Given the description of an element on the screen output the (x, y) to click on. 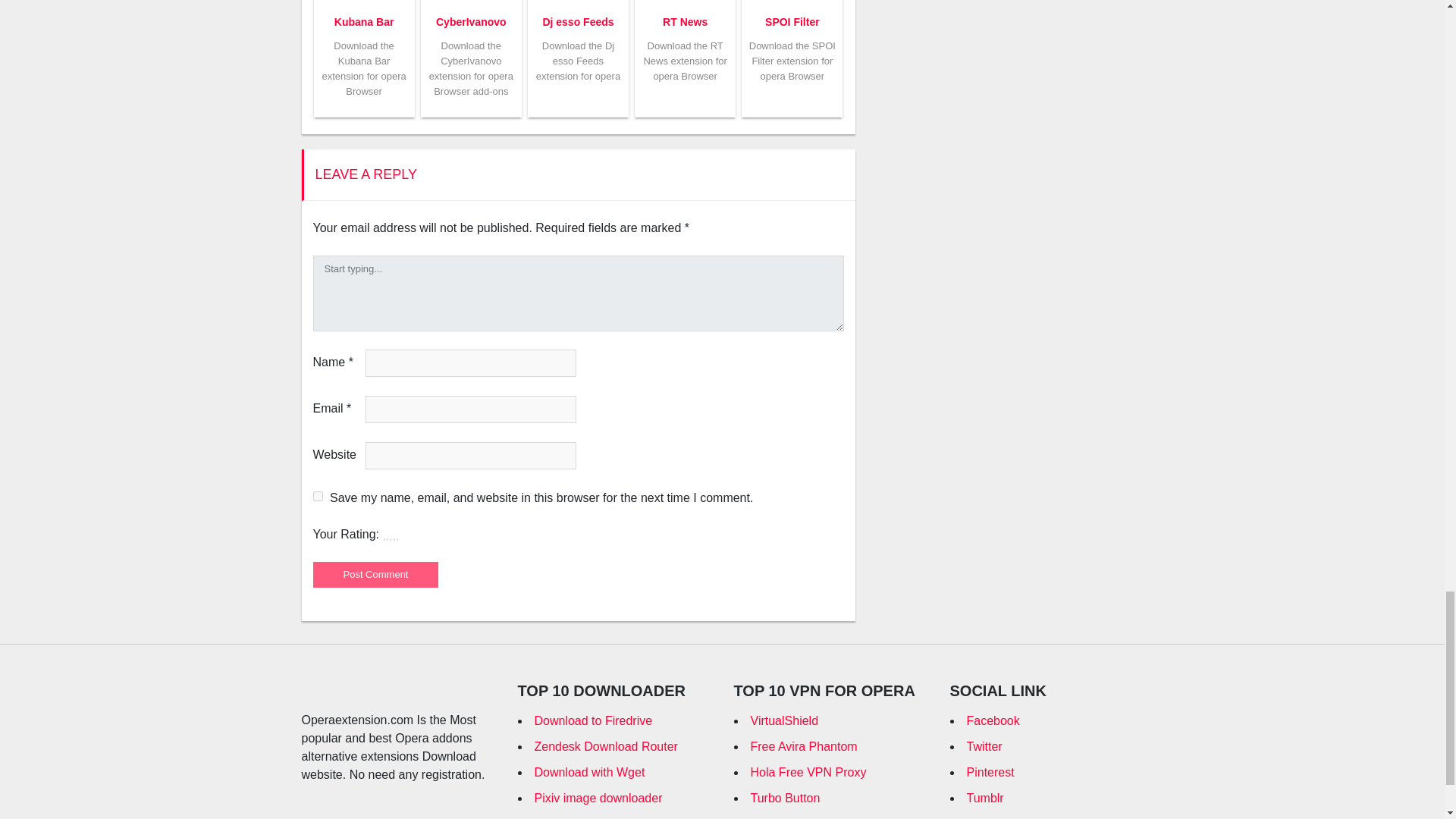
Dj esso Feeds (576, 21)
Download the Dj esso Feeds extension for opera (577, 60)
Kubana Bar (364, 21)
Download the Kubana Bar extension for opera Browser (363, 68)
CyberIvanovo (470, 21)
Post Comment (375, 574)
yes (317, 496)
